Given the description of an element on the screen output the (x, y) to click on. 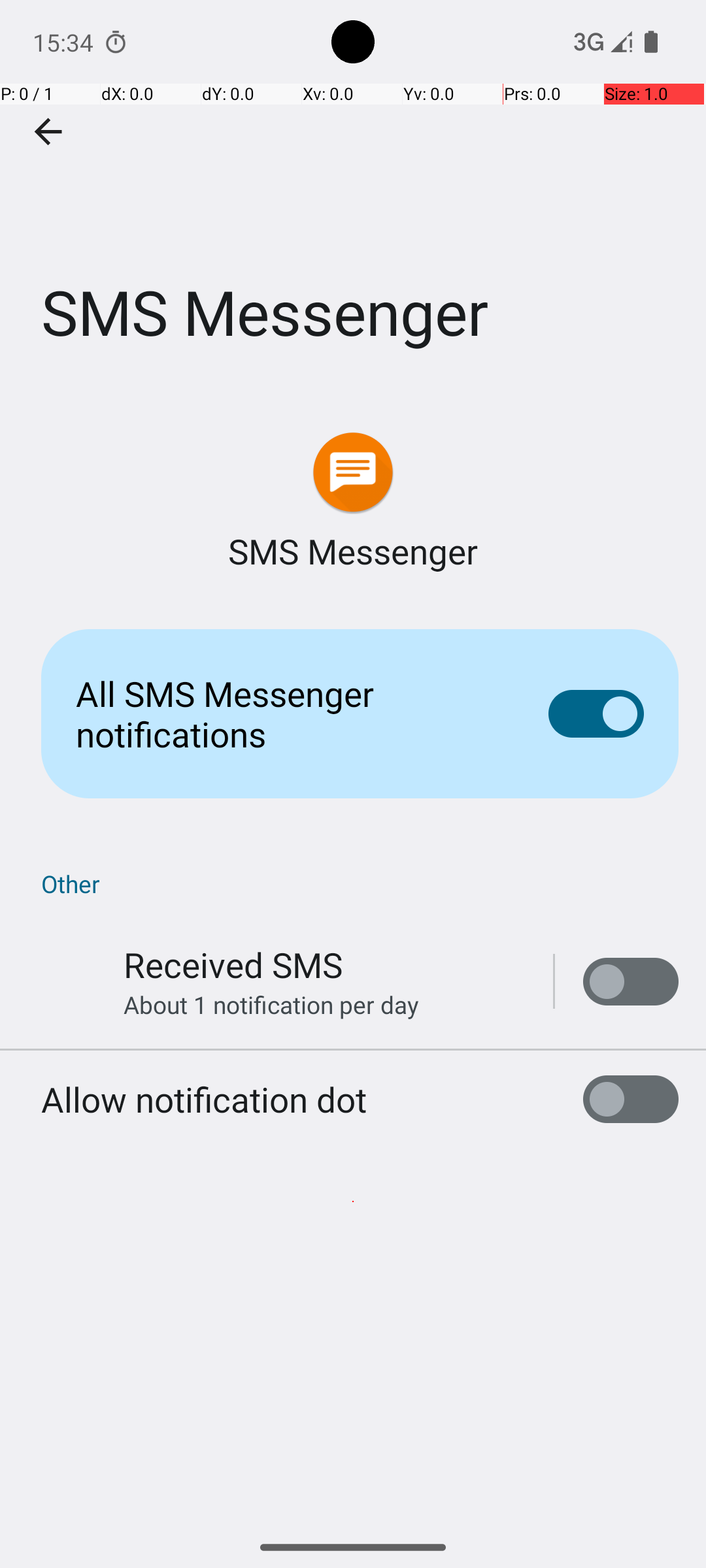
All SMS Messenger notifications Element type: android.widget.TextView (291, 713)
Received SMS Element type: android.widget.TextView (232, 964)
About 1 notification per day Element type: android.widget.TextView (271, 1004)
